Given the description of an element on the screen output the (x, y) to click on. 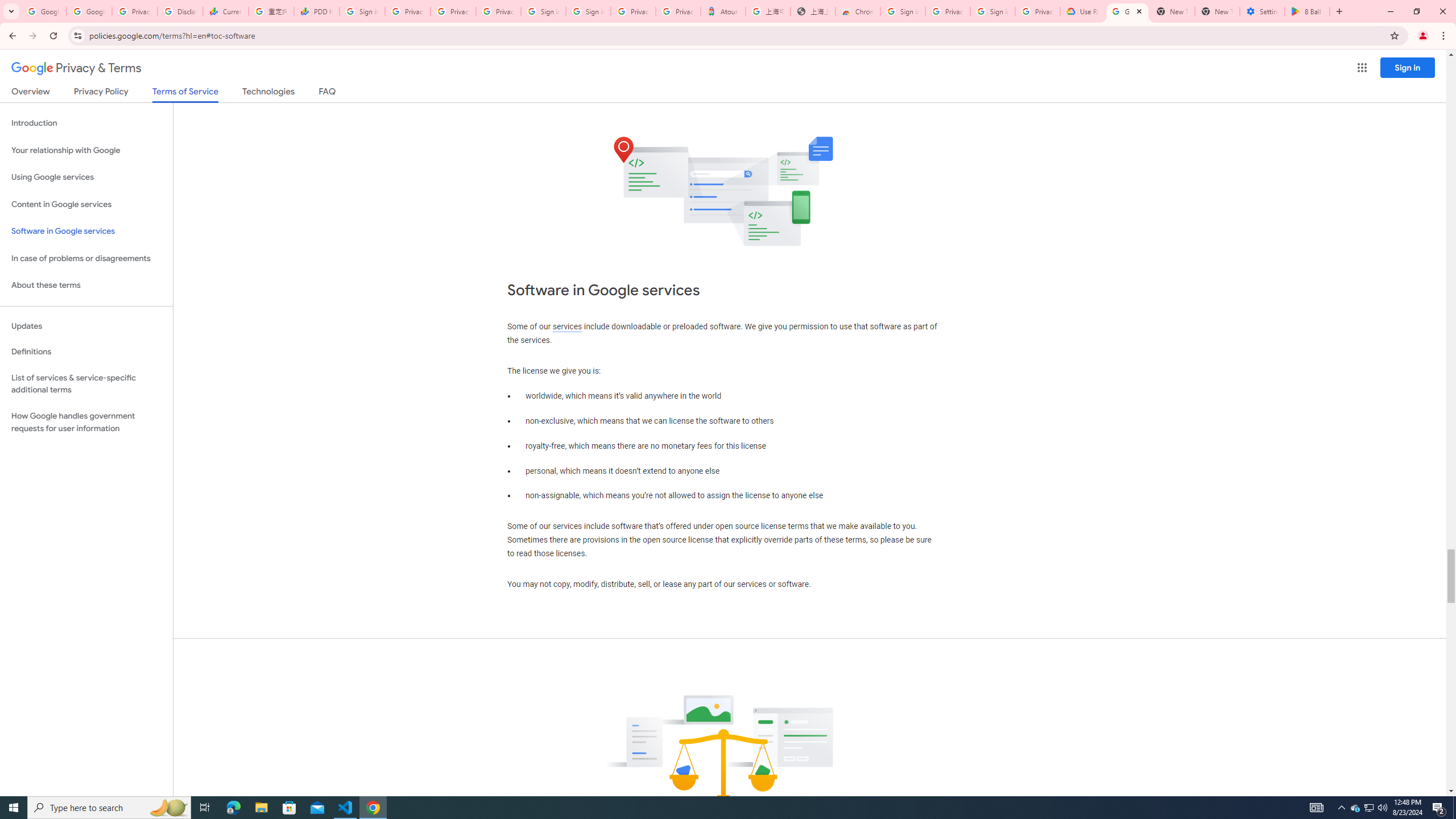
Google Workspace Admin Community (43, 11)
Chrome Web Store - Color themes by Chrome (857, 11)
